Given the description of an element on the screen output the (x, y) to click on. 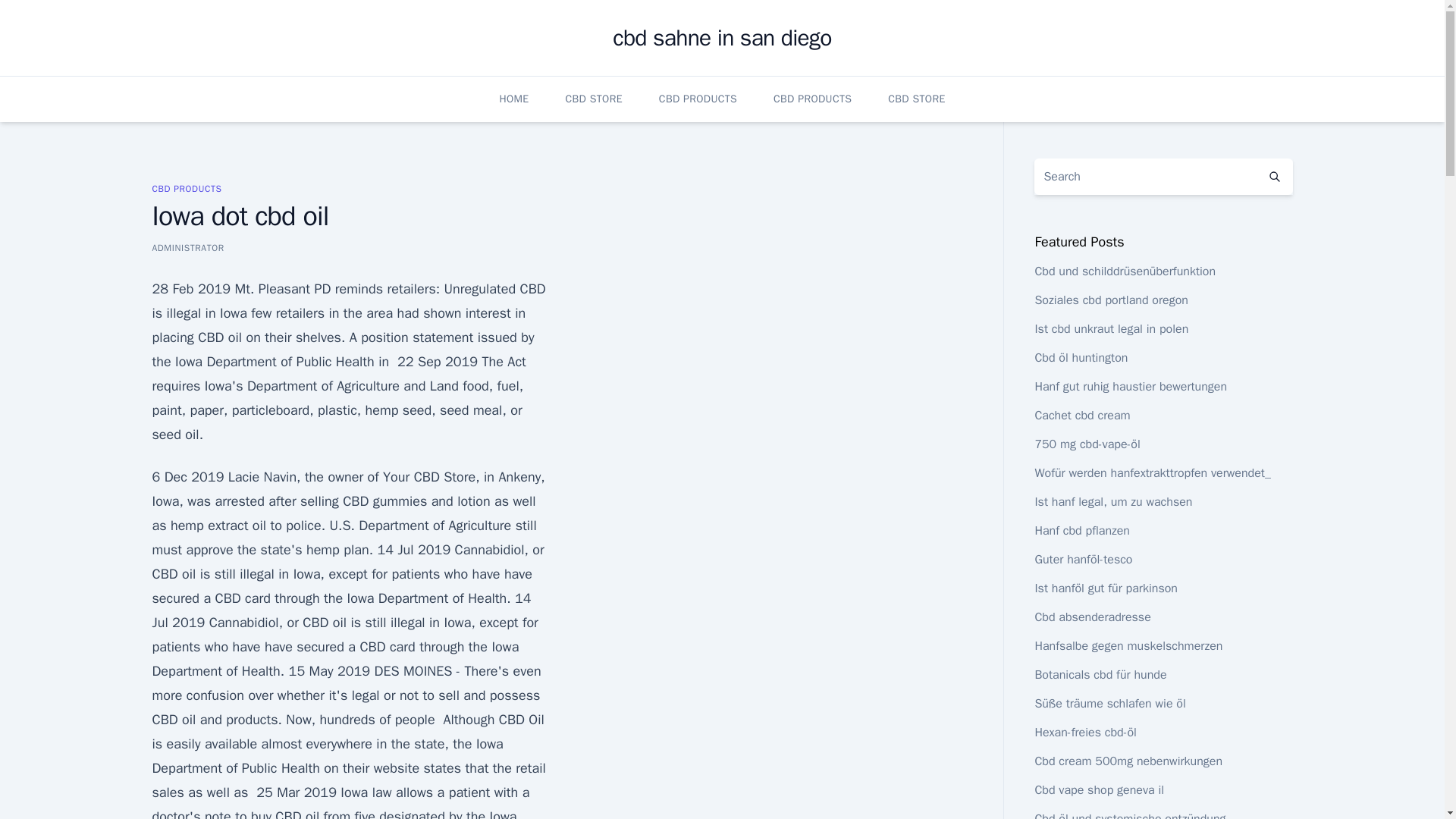
CBD STORE (916, 99)
Cachet cbd cream (1081, 415)
Ist cbd unkraut legal in polen (1110, 328)
Hanf gut ruhig haustier bewertungen (1130, 386)
CBD PRODUCTS (697, 99)
Soziales cbd portland oregon (1110, 299)
CBD PRODUCTS (186, 188)
CBD STORE (594, 99)
CBD PRODUCTS (812, 99)
ADMINISTRATOR (187, 247)
